Given the description of an element on the screen output the (x, y) to click on. 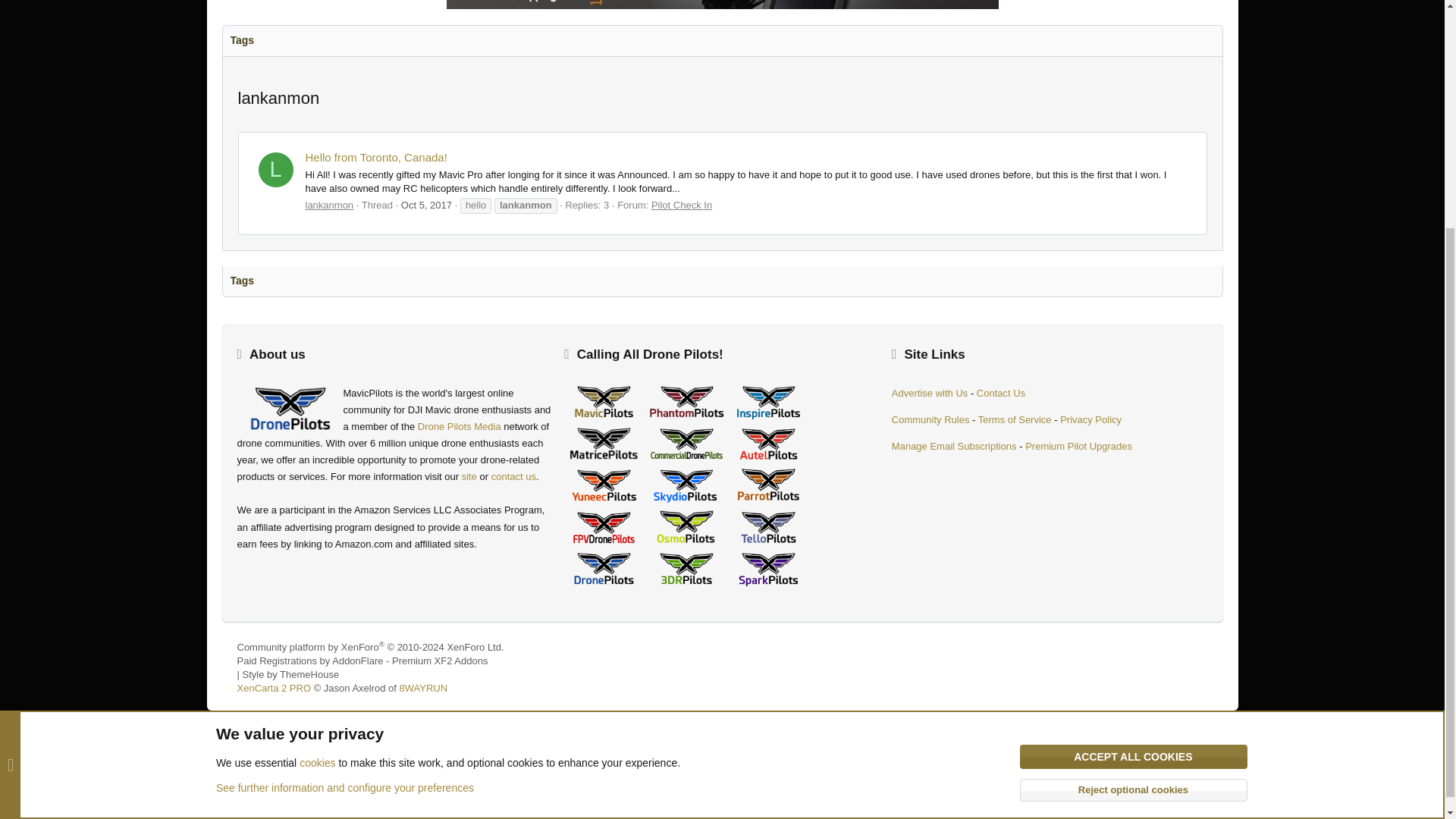
Drone Racing Pilots (603, 528)
Tello Drone Pilots Forum (768, 528)
Yuneec Pilots Forum (603, 485)
Drone Pilots Community (603, 569)
DJI Phantom Pilots (686, 402)
DJI Mavic Pilots (603, 402)
Parrot Pilots (768, 484)
Commercial Drone Pilots (686, 443)
Osmo Camera Community (686, 526)
DJI inspire Pilots (768, 402)
